Given the description of an element on the screen output the (x, y) to click on. 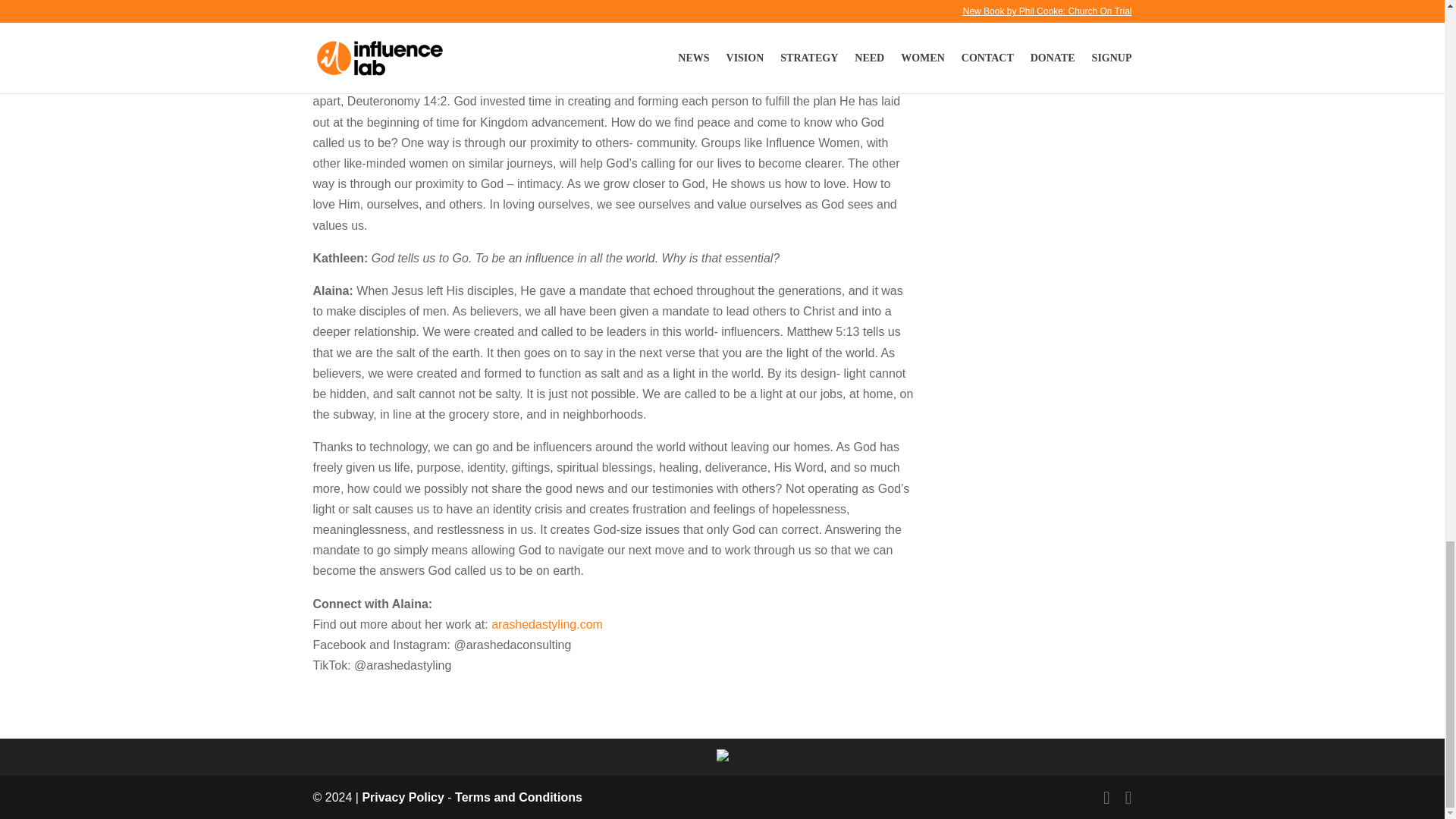
Privacy Policy (402, 797)
arashedastyling.com (547, 624)
Terms and Conditions (518, 797)
